Given the description of an element on the screen output the (x, y) to click on. 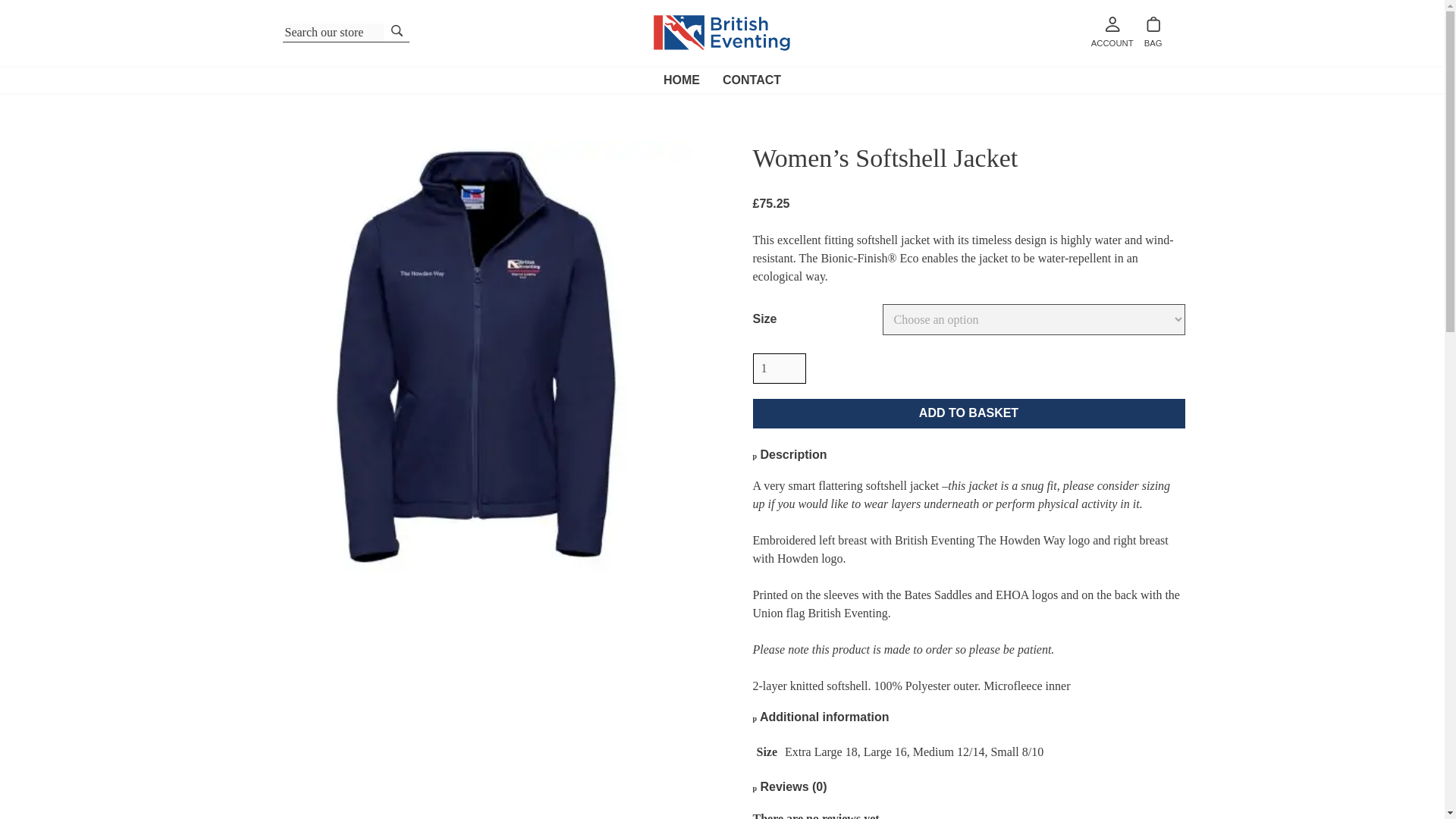
Additional information (820, 716)
HOME (681, 80)
1 (778, 368)
Description (789, 454)
ACCOUNT (1112, 31)
CONTACT (751, 80)
Visit the British Eventing homepage (721, 32)
ADD TO BASKET (968, 412)
